Given the description of an element on the screen output the (x, y) to click on. 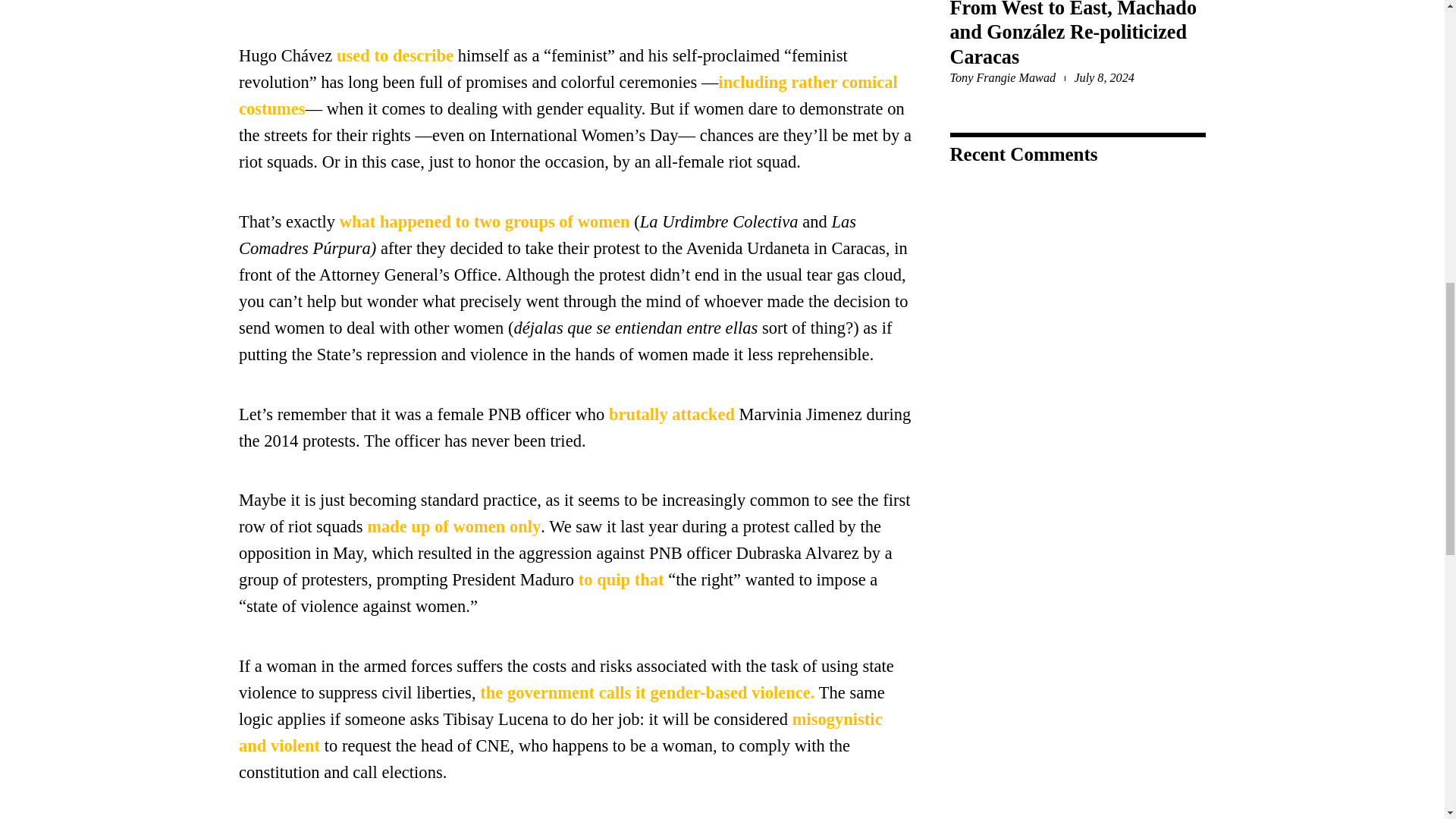
what happened to two groups of women (482, 221)
used to describe (391, 55)
made up of women only (451, 526)
the government calls it gender-based violence. (646, 692)
to quip that (618, 579)
misogynistic and violent (560, 732)
brutally attacked (669, 414)
including rather comical costumes (568, 94)
